Given the description of an element on the screen output the (x, y) to click on. 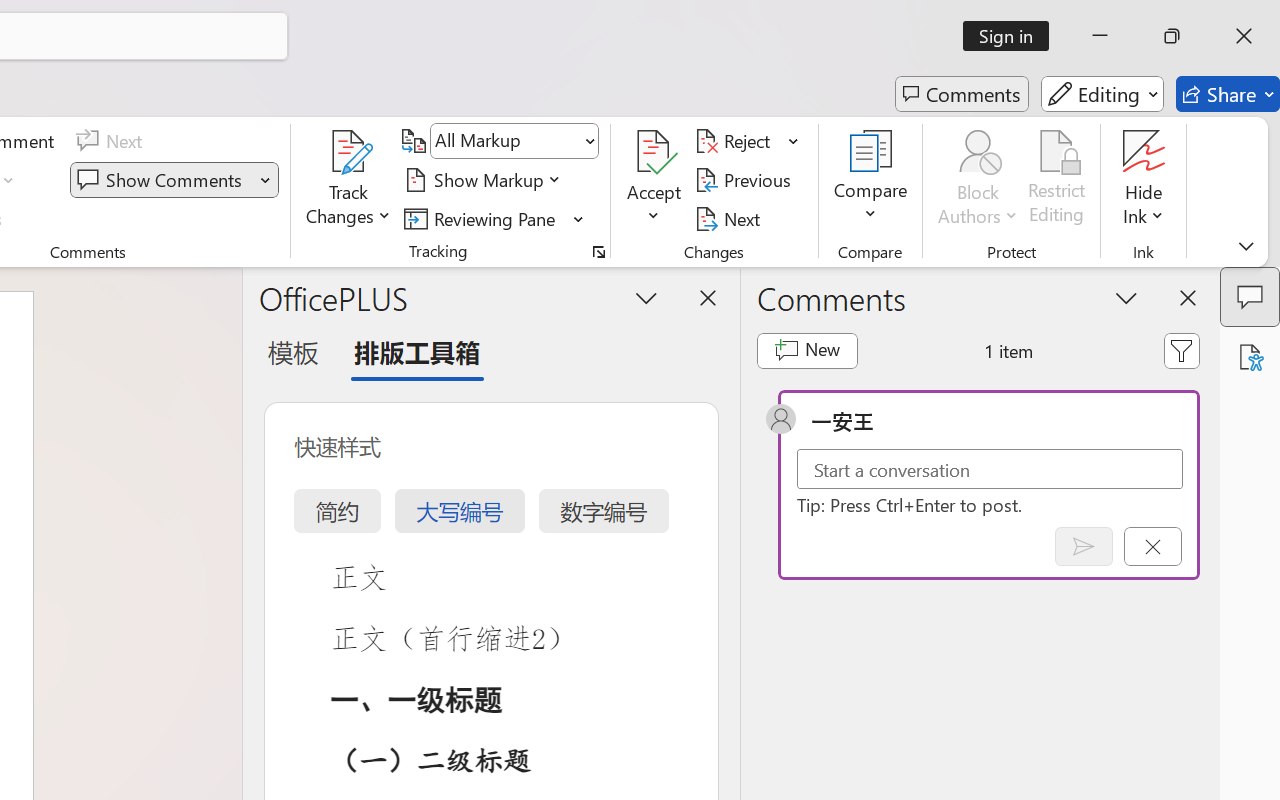
Accessibility Assistant (1249, 357)
Next (730, 218)
Block Authors (977, 179)
